Given the description of an element on the screen output the (x, y) to click on. 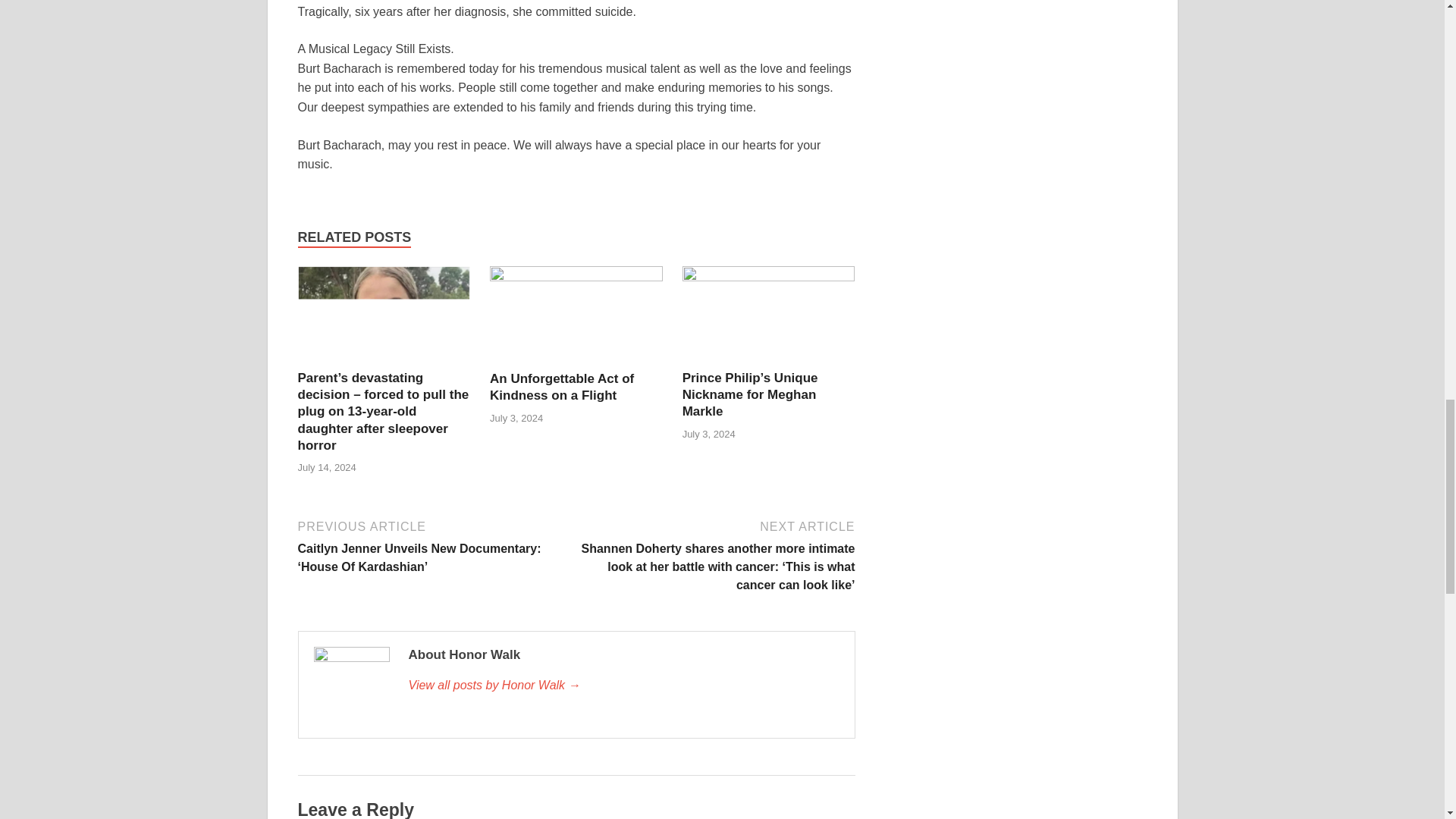
An Unforgettable Act of Kindness on a Flight (561, 386)
An Unforgettable Act of Kindness on a Flight (575, 317)
Honor Walk (622, 685)
An Unforgettable Act of Kindness on a Flight (561, 386)
